Given the description of an element on the screen output the (x, y) to click on. 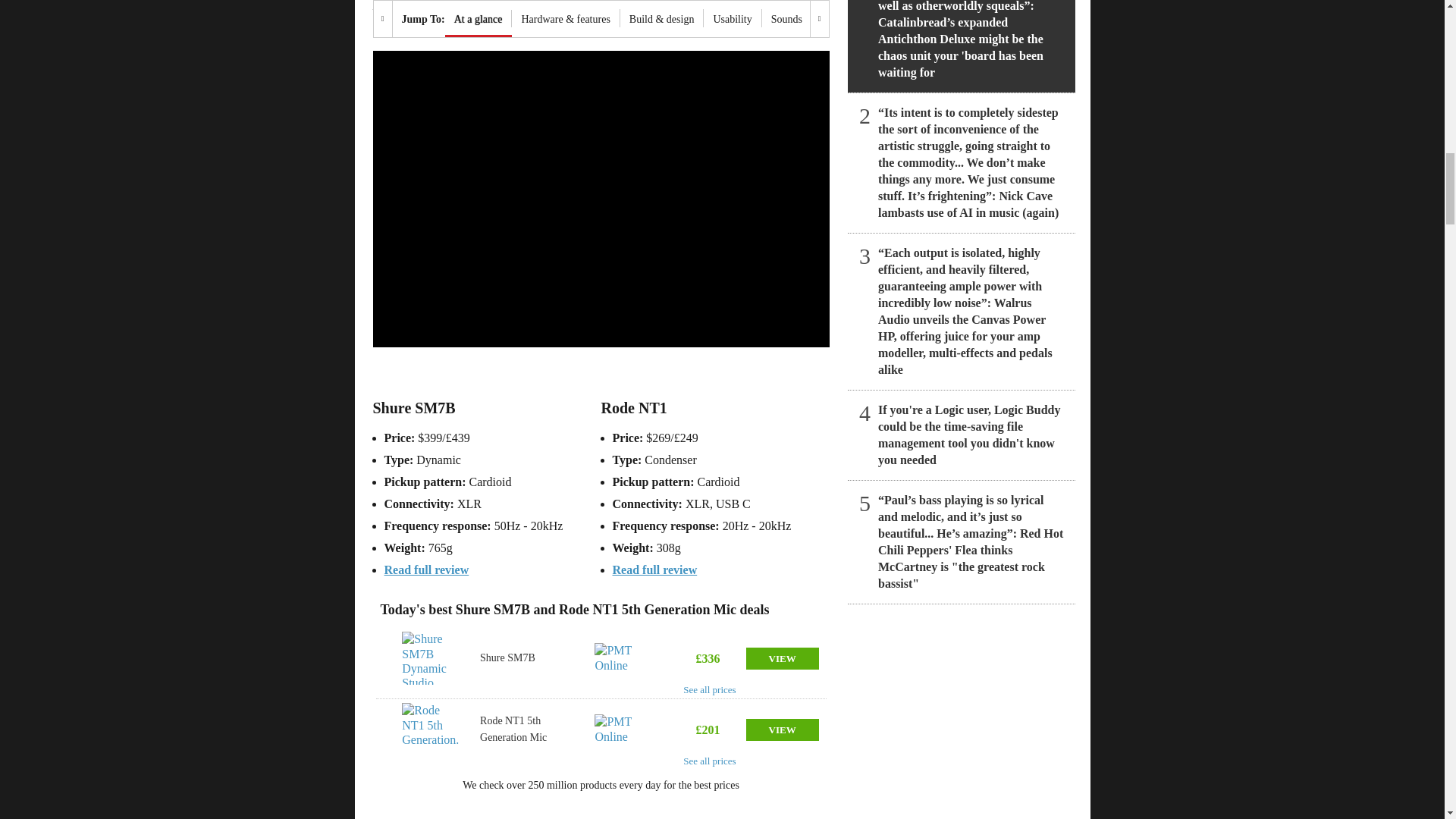
Rode NT1 5th Generation... (431, 728)
PMT Online (624, 657)
Shure SM7B Dynamic Studio... (431, 657)
PMT Online (624, 729)
